Given the description of an element on the screen output the (x, y) to click on. 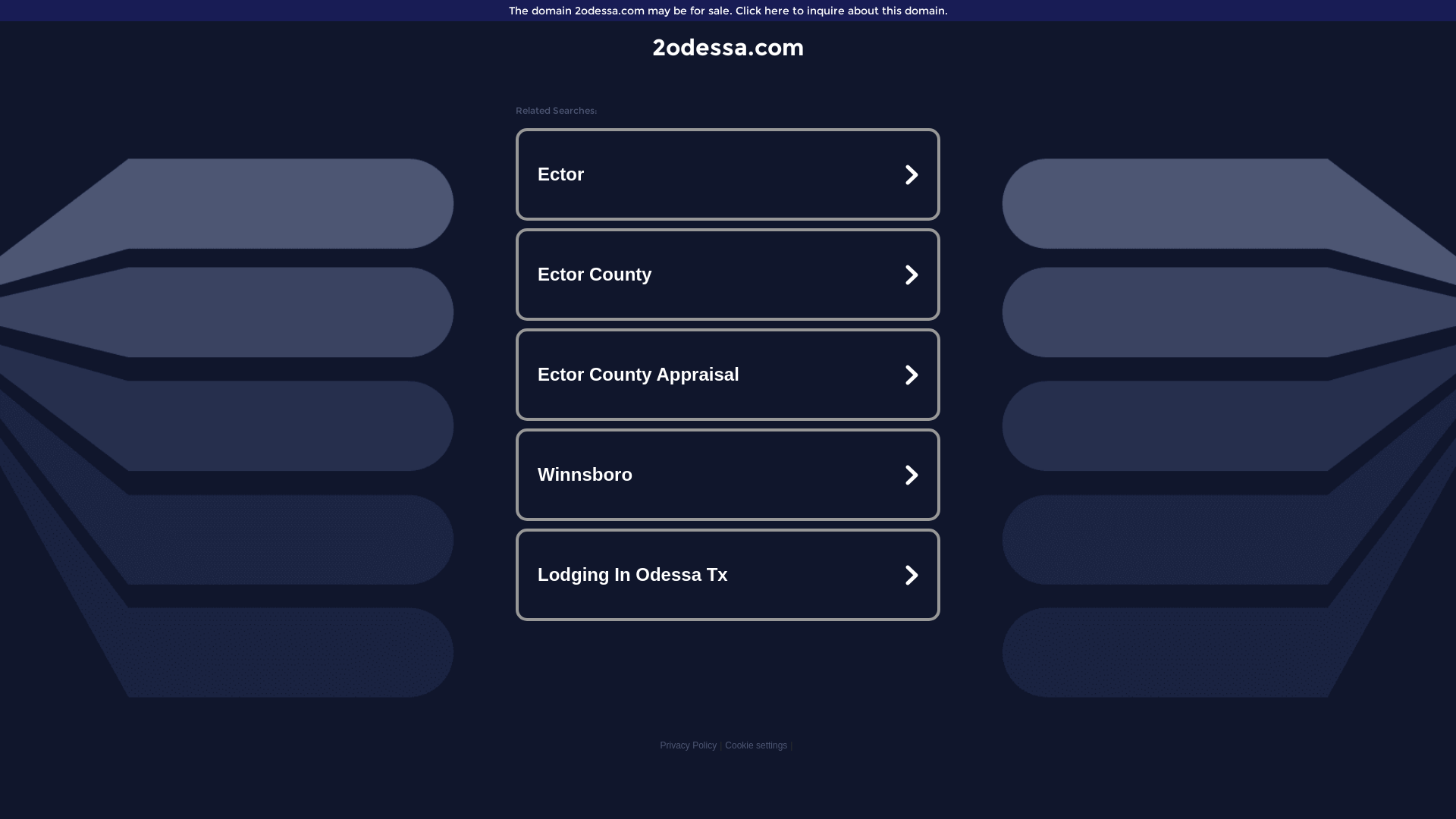
Lodging In Odessa Tx Element type: text (727, 574)
Cookie settings Element type: text (755, 745)
Ector County Element type: text (727, 274)
2odessa.com Element type: text (727, 47)
Ector Element type: text (727, 174)
Ector County Appraisal Element type: text (727, 374)
Privacy Policy Element type: text (687, 745)
Winnsboro Element type: text (727, 474)
